Given the description of an element on the screen output the (x, y) to click on. 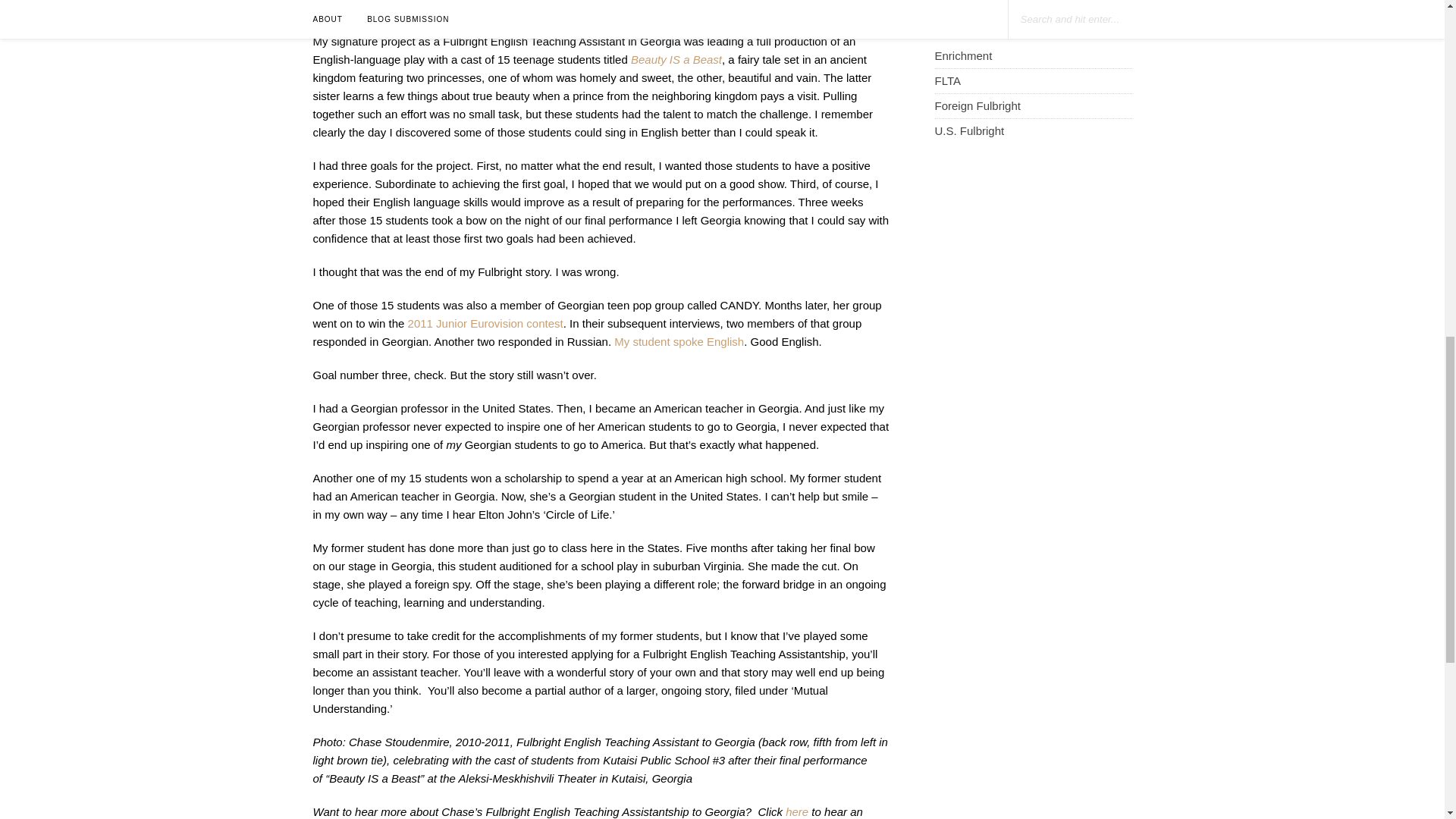
Beauty IS a Beast (676, 59)
My student spoke English (679, 341)
2011 Junior Eurovision contest (485, 323)
Enrichment (962, 55)
FLTA (946, 80)
here (797, 811)
